Given the description of an element on the screen output the (x, y) to click on. 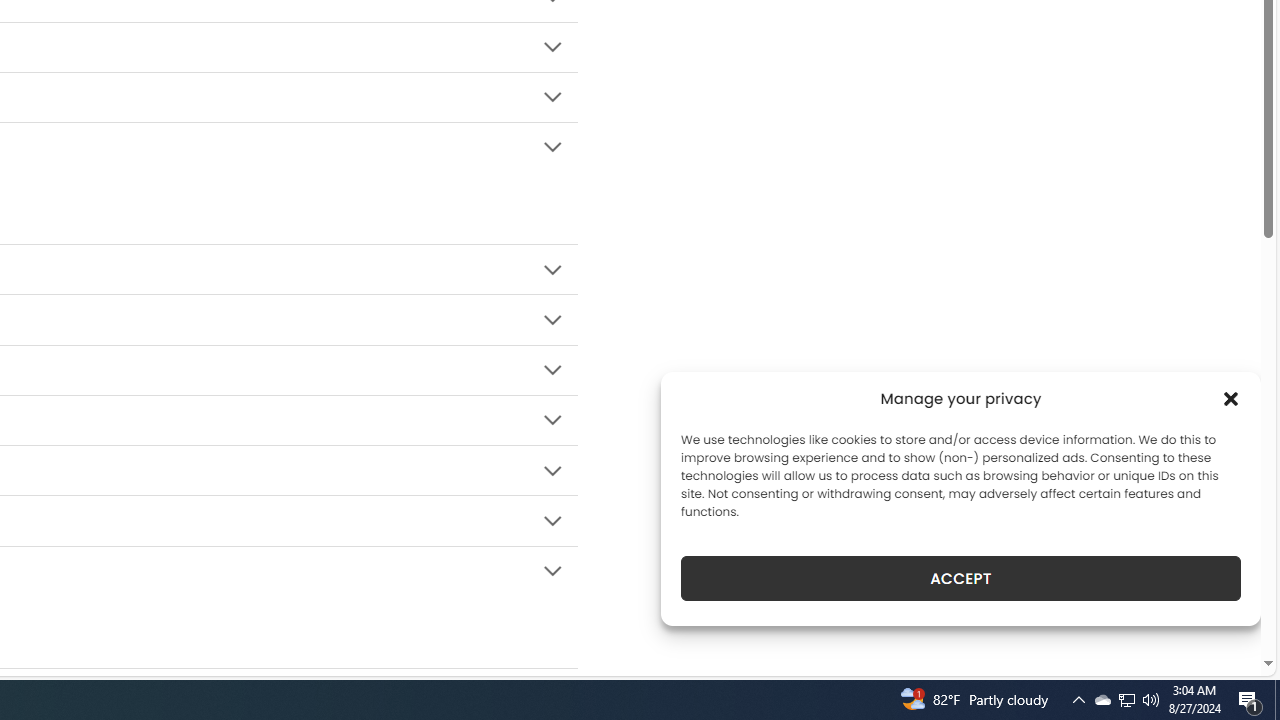
ACCEPT (960, 578)
Class: cmplz-close (1231, 398)
